Given the description of an element on the screen output the (x, y) to click on. 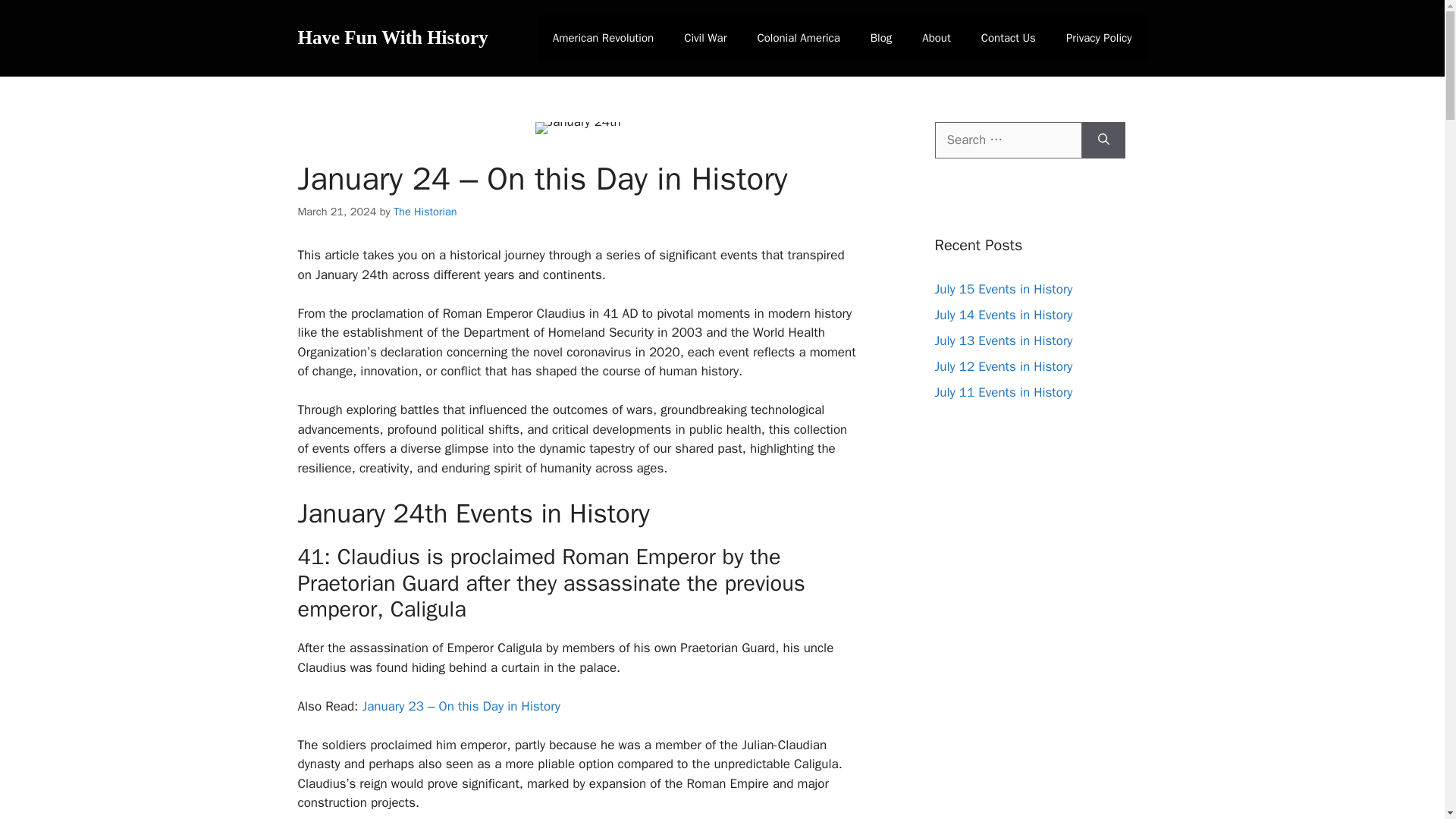
View all posts by The Historian (425, 211)
July 11 Events in History (1002, 391)
Blog (881, 37)
Civil War (704, 37)
Privacy Policy (1099, 37)
Contact Us (1008, 37)
July 14 Events in History (1002, 314)
July 12 Events in History (1002, 365)
The Historian (425, 211)
American Revolution (602, 37)
